Given the description of an element on the screen output the (x, y) to click on. 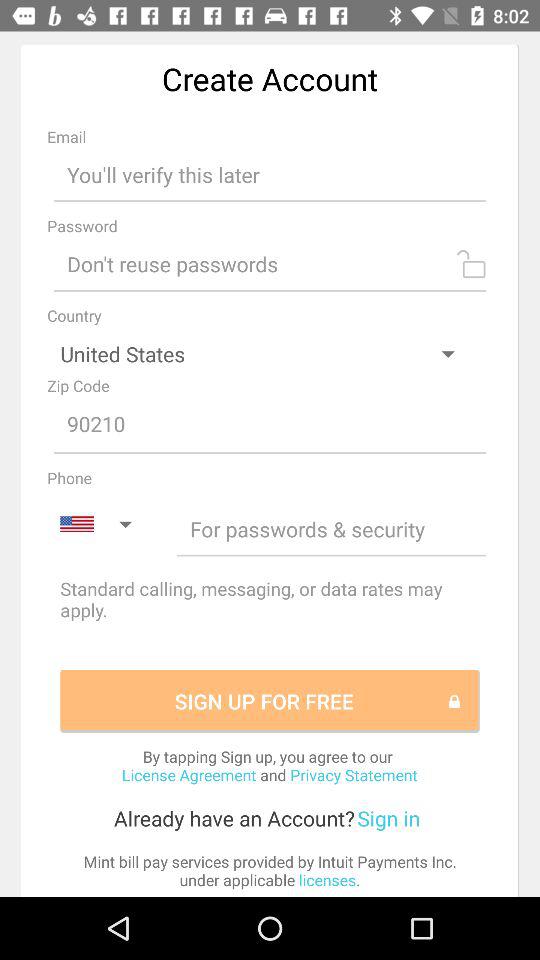
input number space to inform phone number (331, 528)
